Given the description of an element on the screen output the (x, y) to click on. 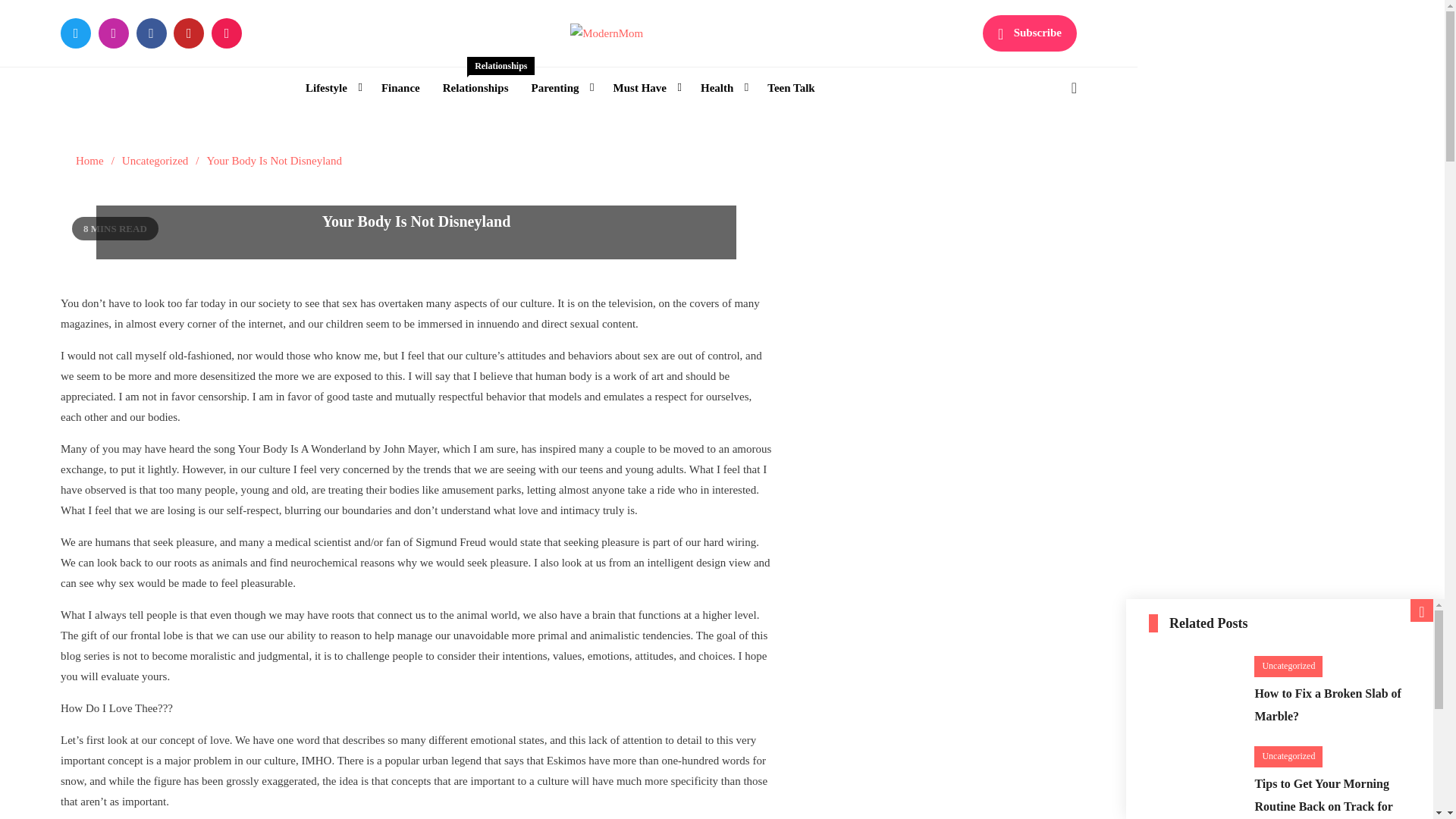
ModernMom (648, 64)
Health (721, 88)
Must Have (645, 88)
Subscribe (1029, 33)
Lifestyle (331, 88)
Home (89, 160)
Parenting (560, 88)
Search (1034, 151)
Teen Talk (790, 88)
